Given the description of an element on the screen output the (x, y) to click on. 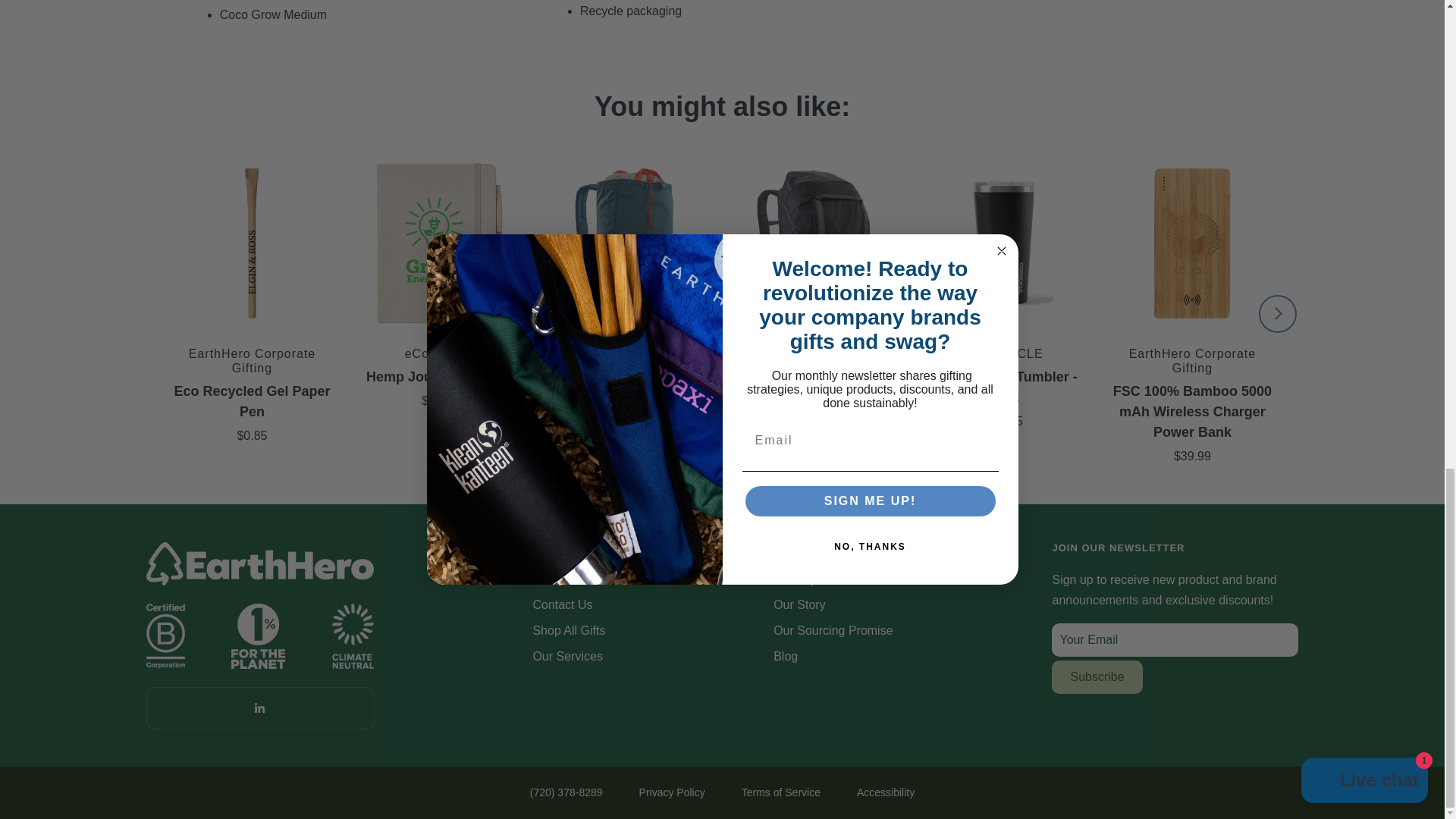
Register (1096, 676)
Launch Accessibility Center (885, 791)
